Given the description of an element on the screen output the (x, y) to click on. 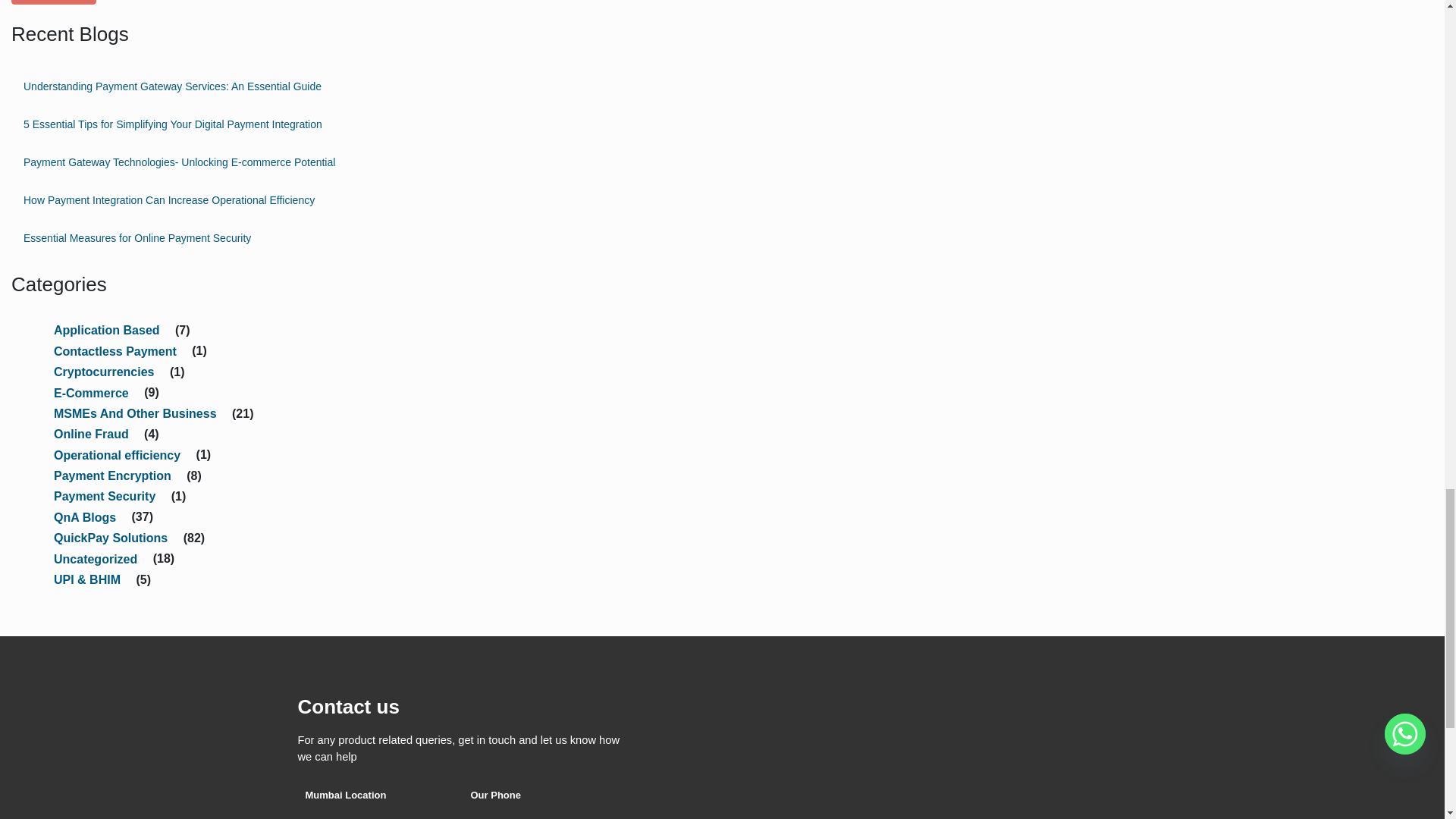
Post Comment (53, 2)
Essential Measures for Online Payment Security (240, 238)
Understanding Payment Gateway Services: An Essential Guide  (240, 86)
Operational efficiency (117, 453)
Payment Gateway Technologies- Unlocking E-commerce Potential (240, 162)
E-Commerce (91, 390)
MSMEs And Other Business (135, 412)
Payment Security (104, 494)
Post Comment (53, 2)
How Payment Integration Can Increase Operational Efficiency (240, 199)
Application Based (106, 328)
Online Fraud (91, 432)
Contactless Payment (115, 349)
Cryptocurrencies (104, 370)
